Given the description of an element on the screen output the (x, y) to click on. 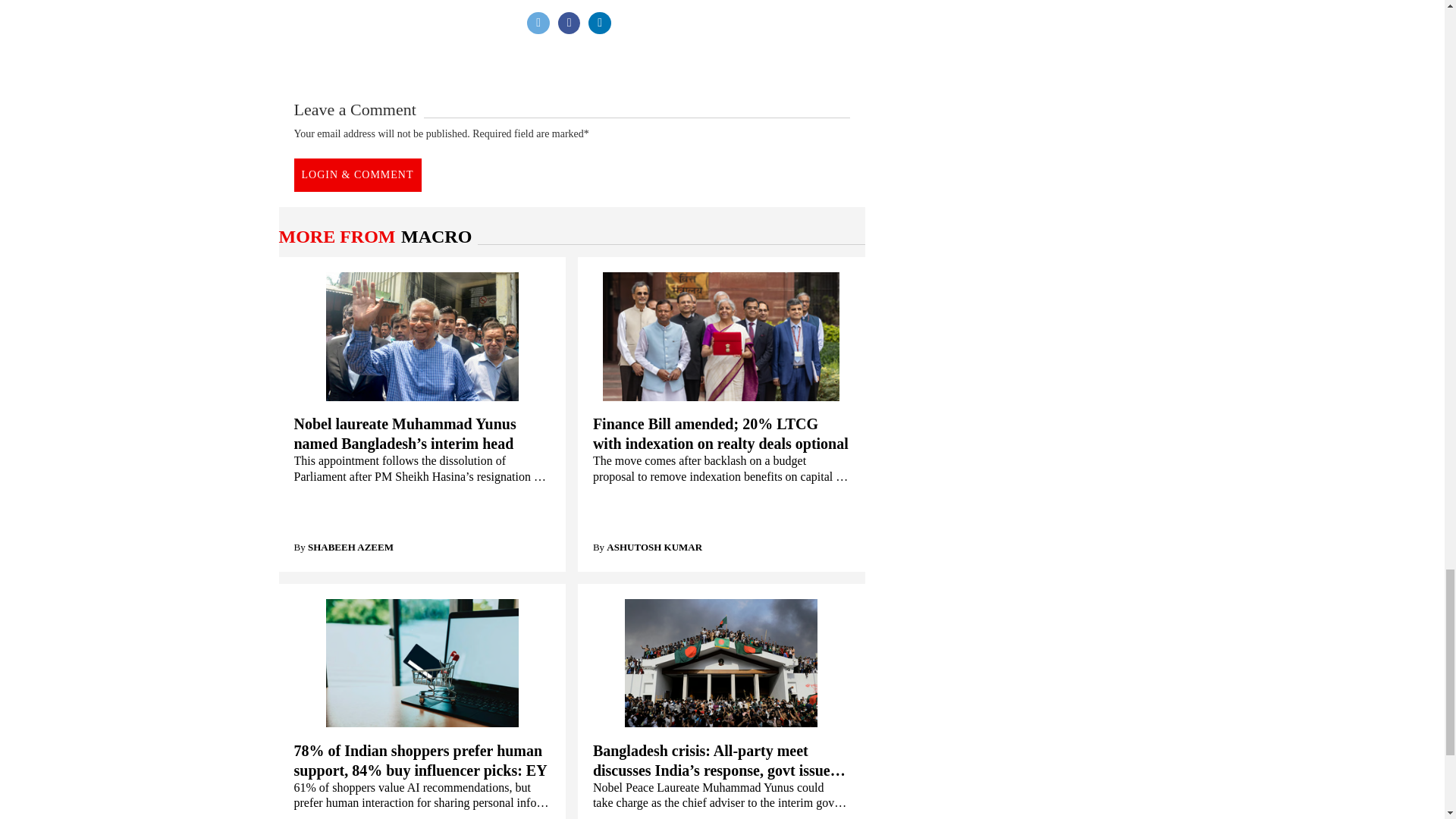
Linkedin (599, 23)
Facebook (568, 23)
Twitter (538, 23)
